Given the description of an element on the screen output the (x, y) to click on. 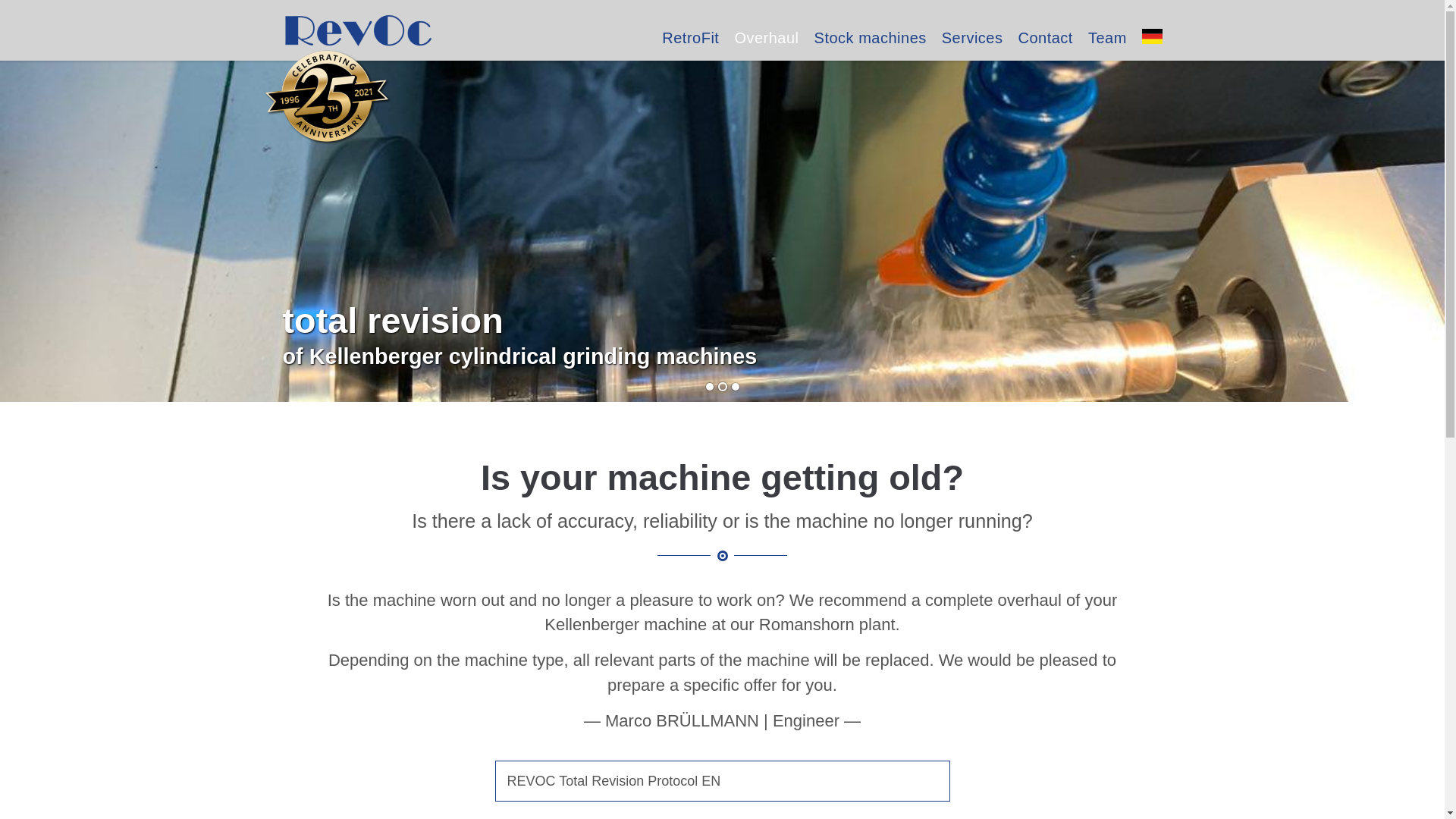
Stock machines (869, 38)
REVOC Total Revision Protocol EN (722, 780)
Download revoc-total-revision-protocol-en.pdf (722, 780)
Previous (39, 220)
Stock machines (869, 38)
